Given the description of an element on the screen output the (x, y) to click on. 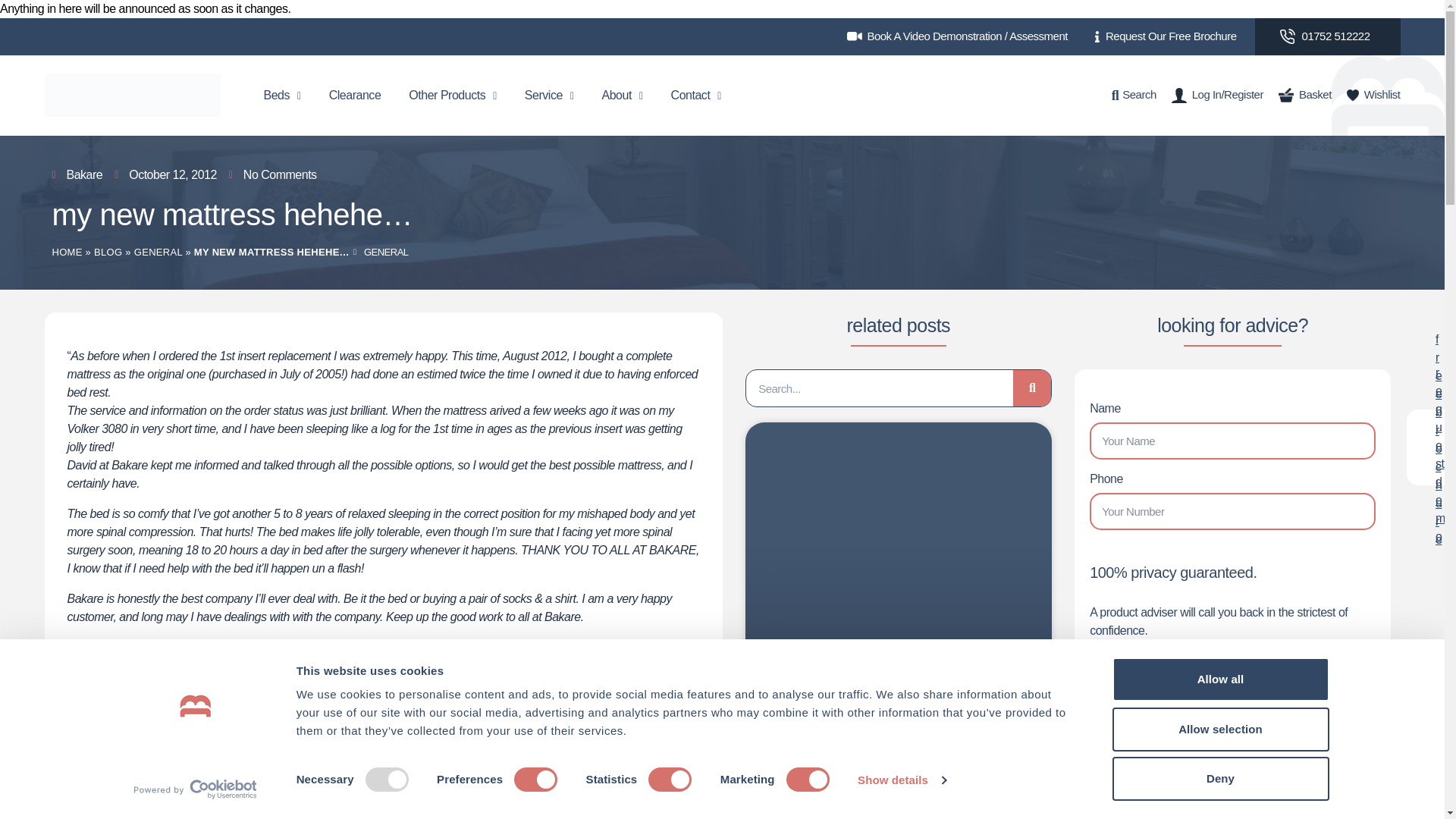
Search (1134, 95)
View your shopping basket (1305, 95)
Show details (900, 780)
